Given the description of an element on the screen output the (x, y) to click on. 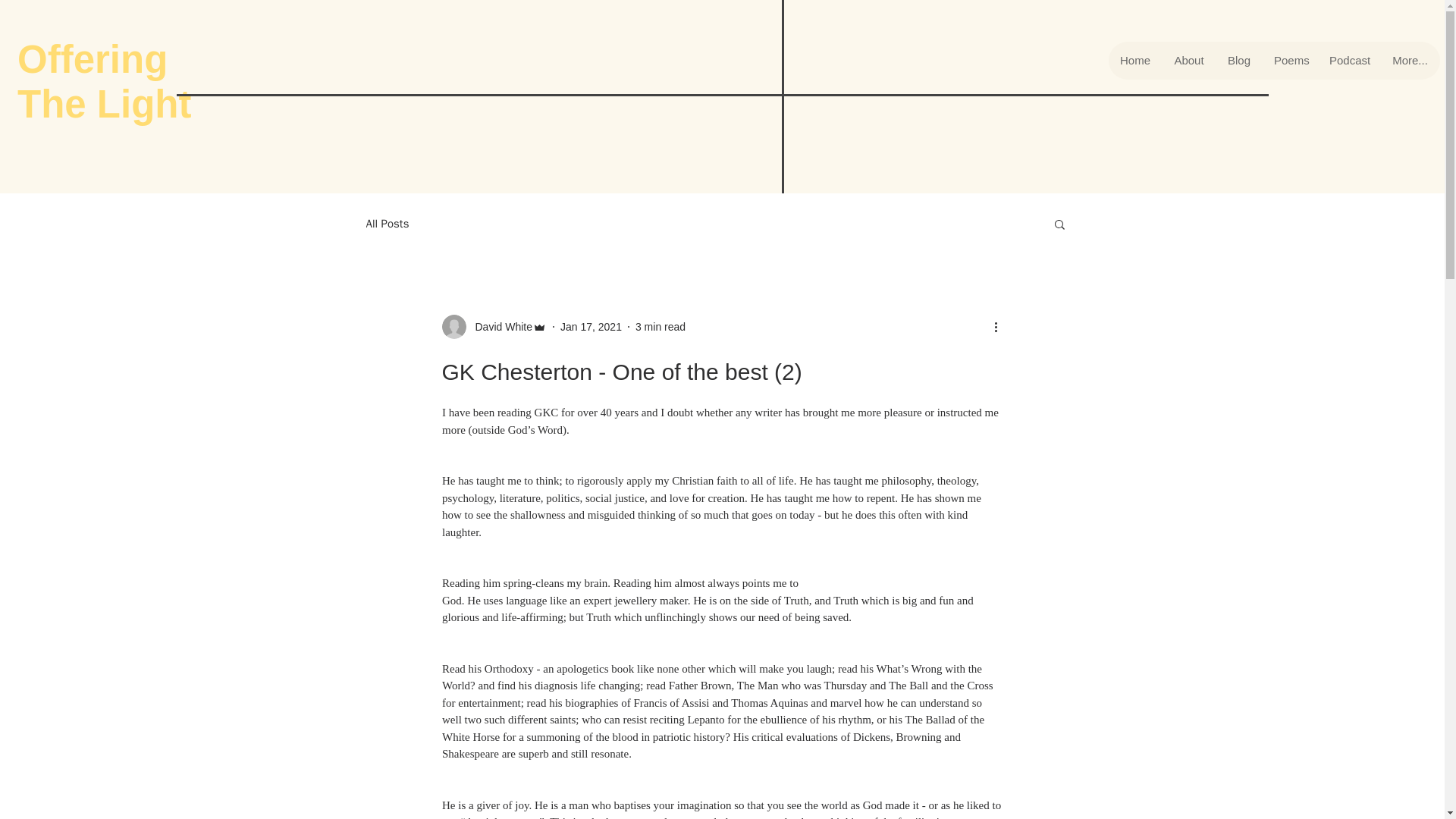
David White (498, 326)
3 min read (659, 326)
Poems (1289, 60)
Offering The Light (103, 81)
Blog (1238, 60)
All Posts (387, 223)
Jan 17, 2021 (590, 326)
Podcast (1347, 60)
David White (493, 326)
Home (1134, 60)
